Given the description of an element on the screen output the (x, y) to click on. 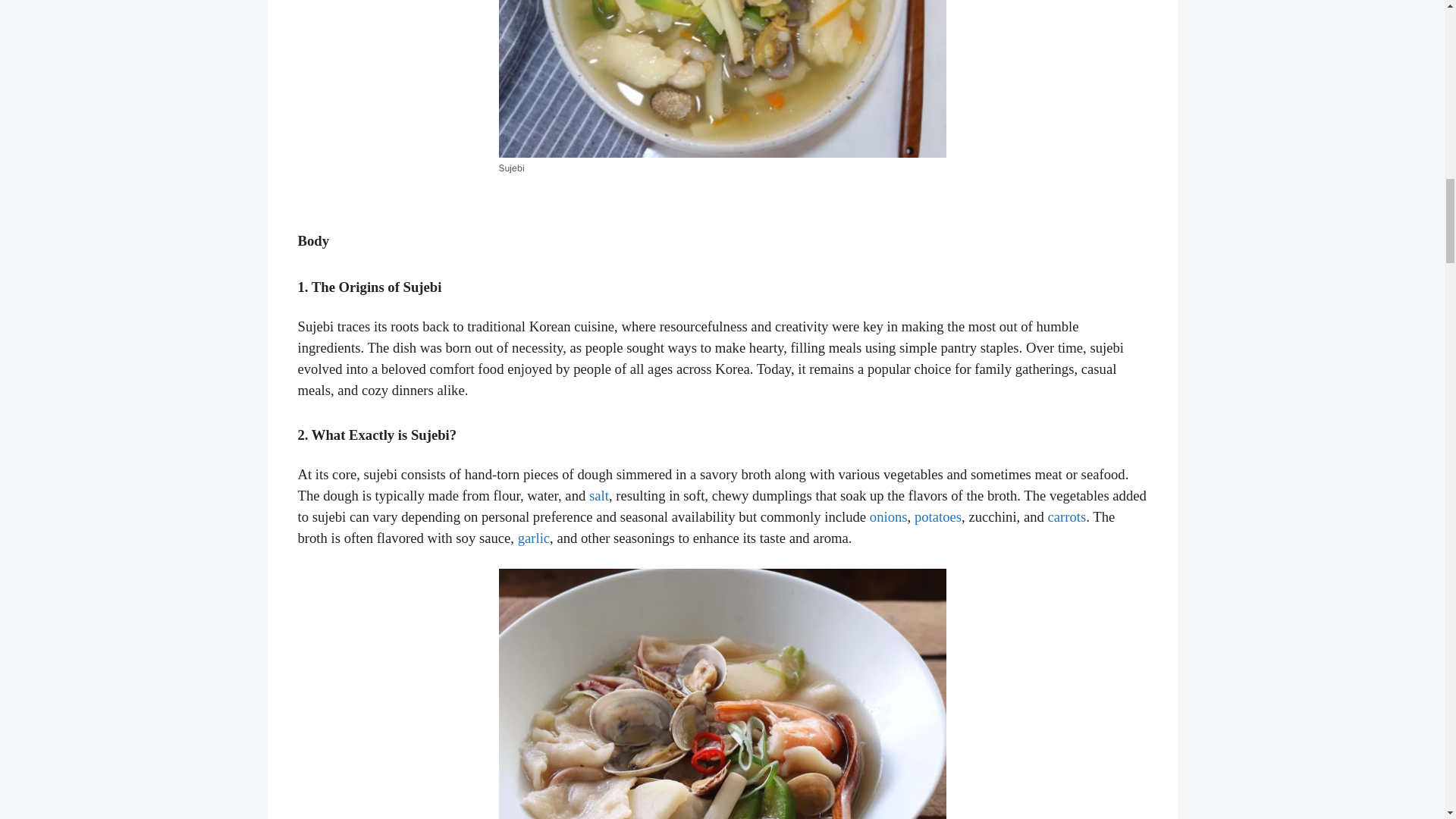
garlic (534, 537)
onions (888, 516)
salt (598, 495)
potatoes (937, 516)
carrots (1067, 516)
